Given the description of an element on the screen output the (x, y) to click on. 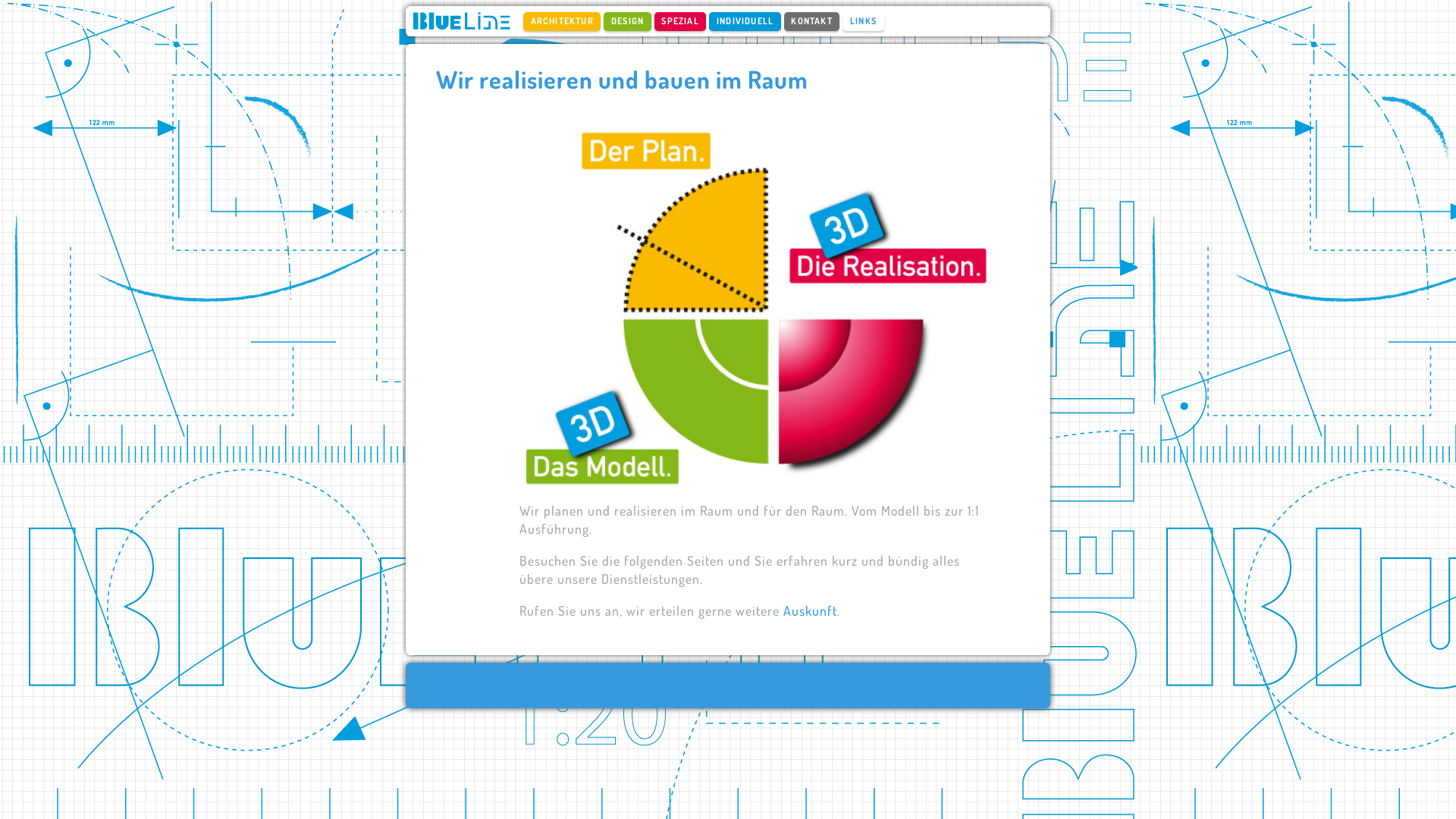
LINKS Element type: text (862, 21)
SPEZIAL Element type: text (680, 21)
DESIGN Element type: text (626, 21)
INDIVIDUELL Element type: text (744, 21)
KONTAKT Element type: text (812, 21)
ARCHITEKTUR Element type: text (561, 21)
Auskunft Element type: text (810, 610)
